Given the description of an element on the screen output the (x, y) to click on. 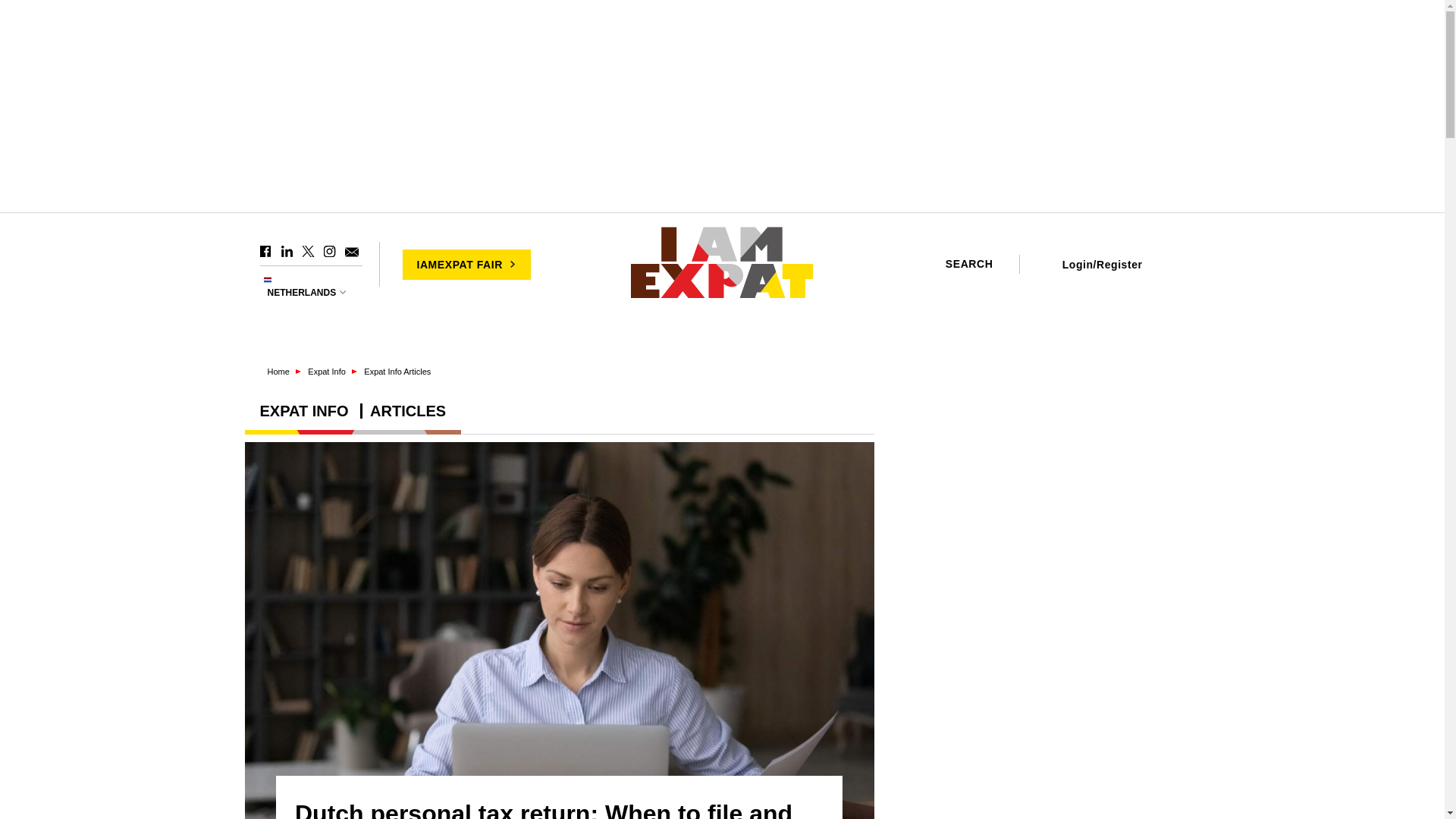
Instagram (329, 251)
3rd party ad content (1047, 513)
Facebook (265, 251)
NETHERLANDS (307, 292)
Linkedin (287, 251)
3rd party ad content (1047, 736)
Twitter (307, 251)
Home (721, 263)
IAMEXPAT FAIR (465, 263)
